Given the description of an element on the screen output the (x, y) to click on. 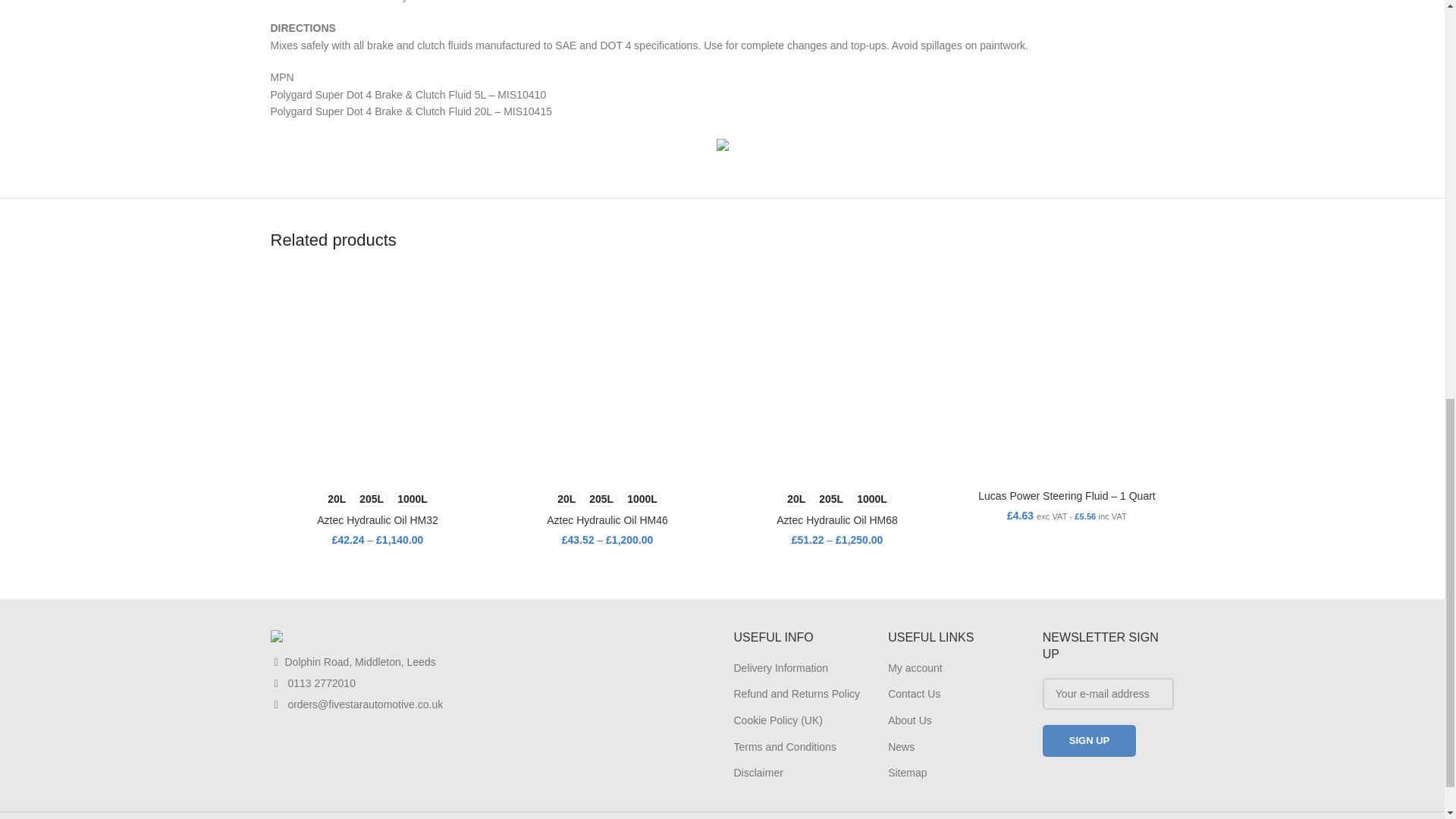
Sign up (1088, 740)
